Given the description of an element on the screen output the (x, y) to click on. 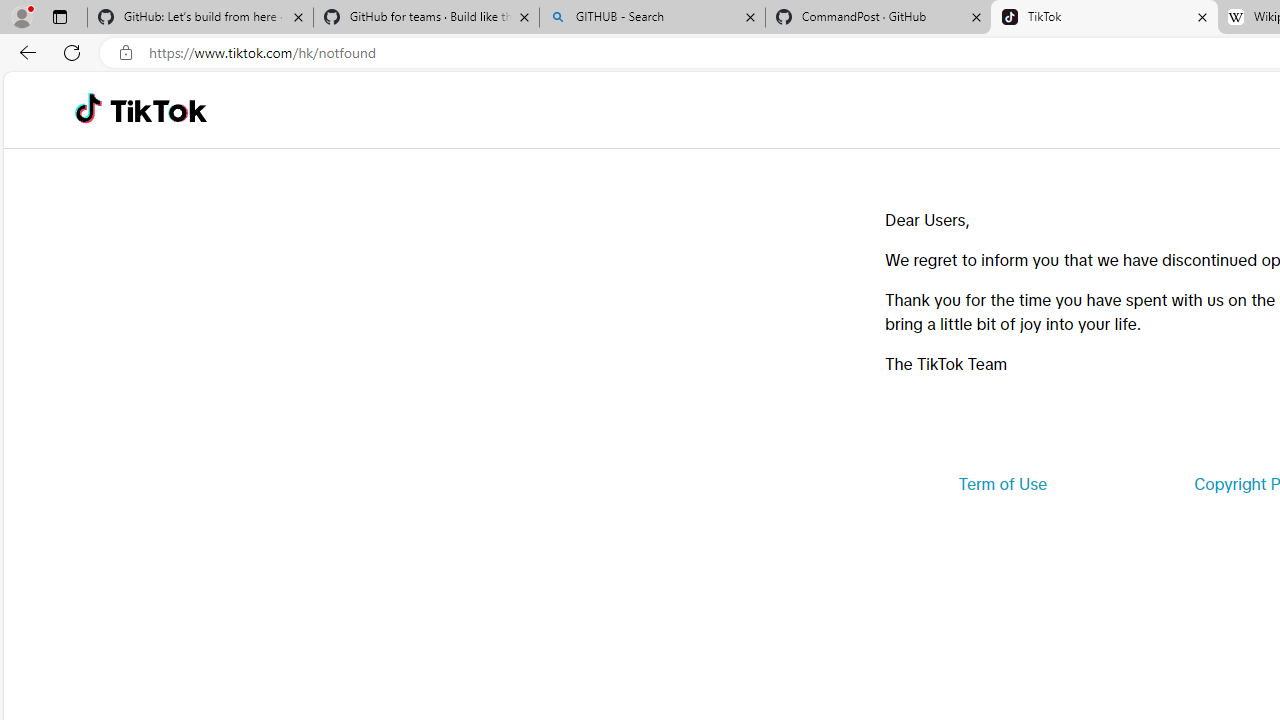
TikTok (1104, 17)
GITHUB - Search (652, 17)
TikTok (158, 110)
Term of Use (1002, 484)
